Given the description of an element on the screen output the (x, y) to click on. 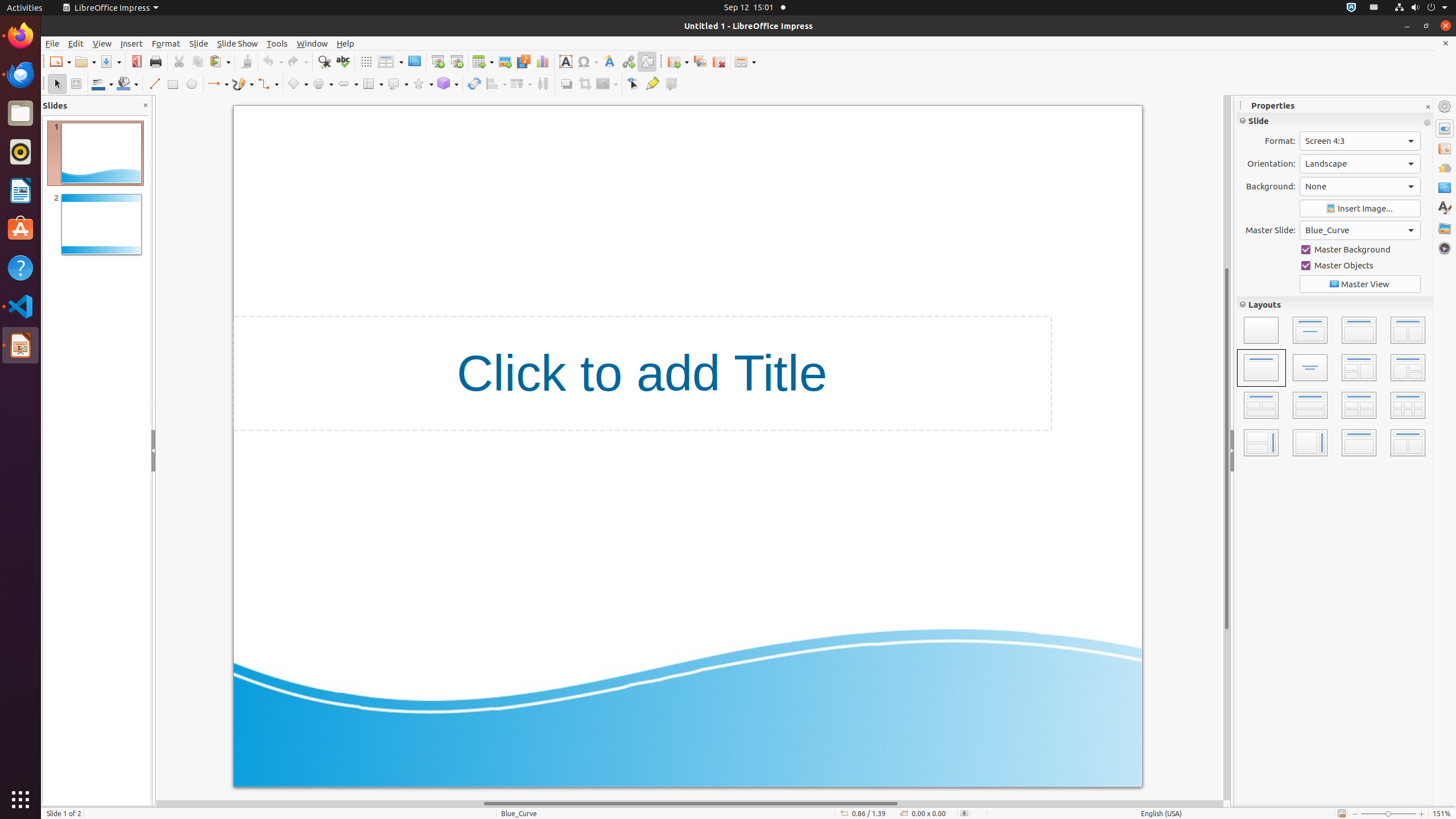
Show Applications Element type: toggle-button (20, 799)
Media Element type: push-button (523, 61)
Thunderbird Mail Element type: push-button (20, 74)
Zoom & Pan Element type: push-button (75, 83)
